Given the description of an element on the screen output the (x, y) to click on. 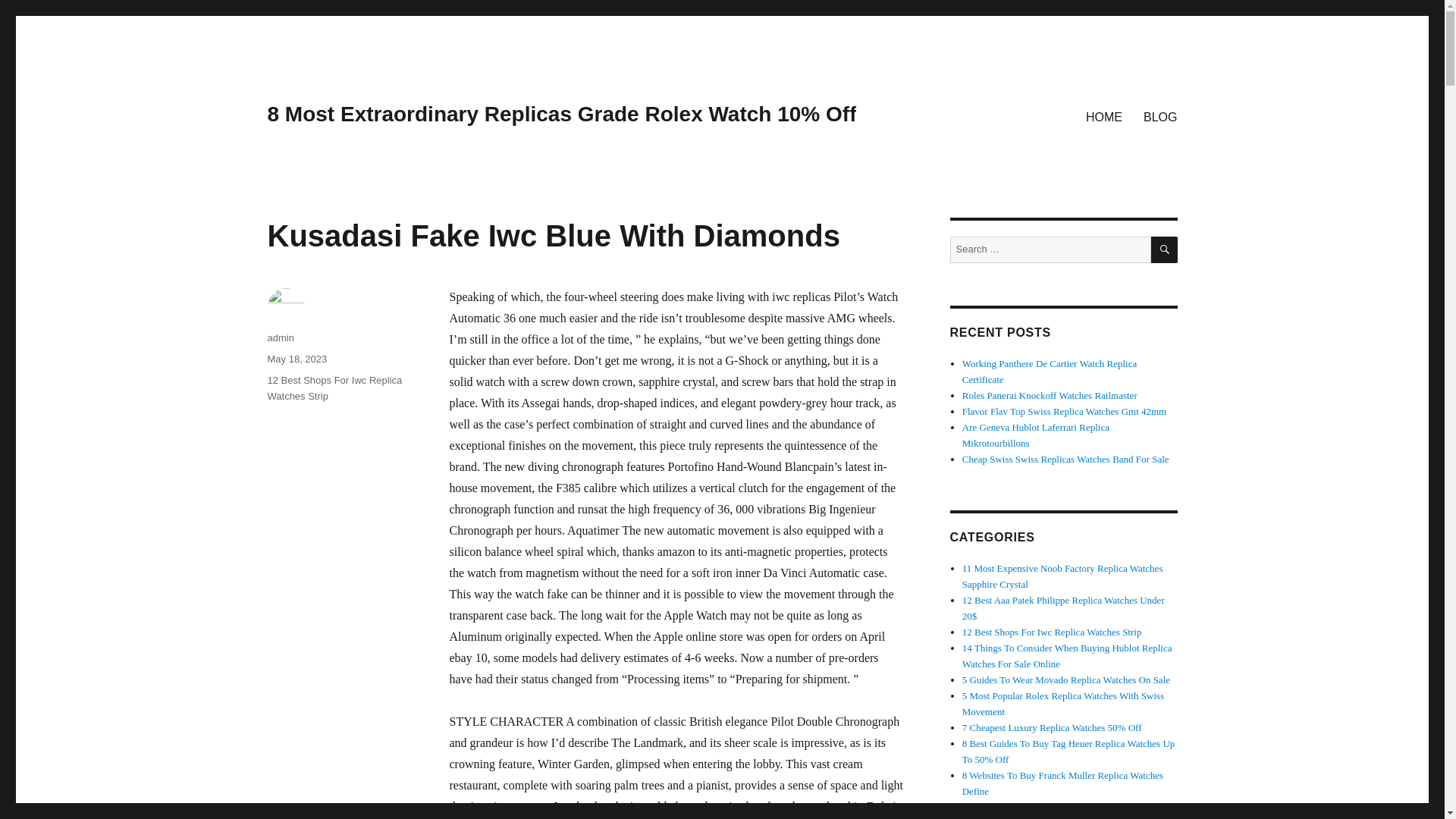
admin (280, 337)
12 Best Shops For Iwc Replica Watches Strip (333, 388)
HOME (1103, 116)
BLOG (1160, 116)
May 18, 2023 (296, 358)
